Given the description of an element on the screen output the (x, y) to click on. 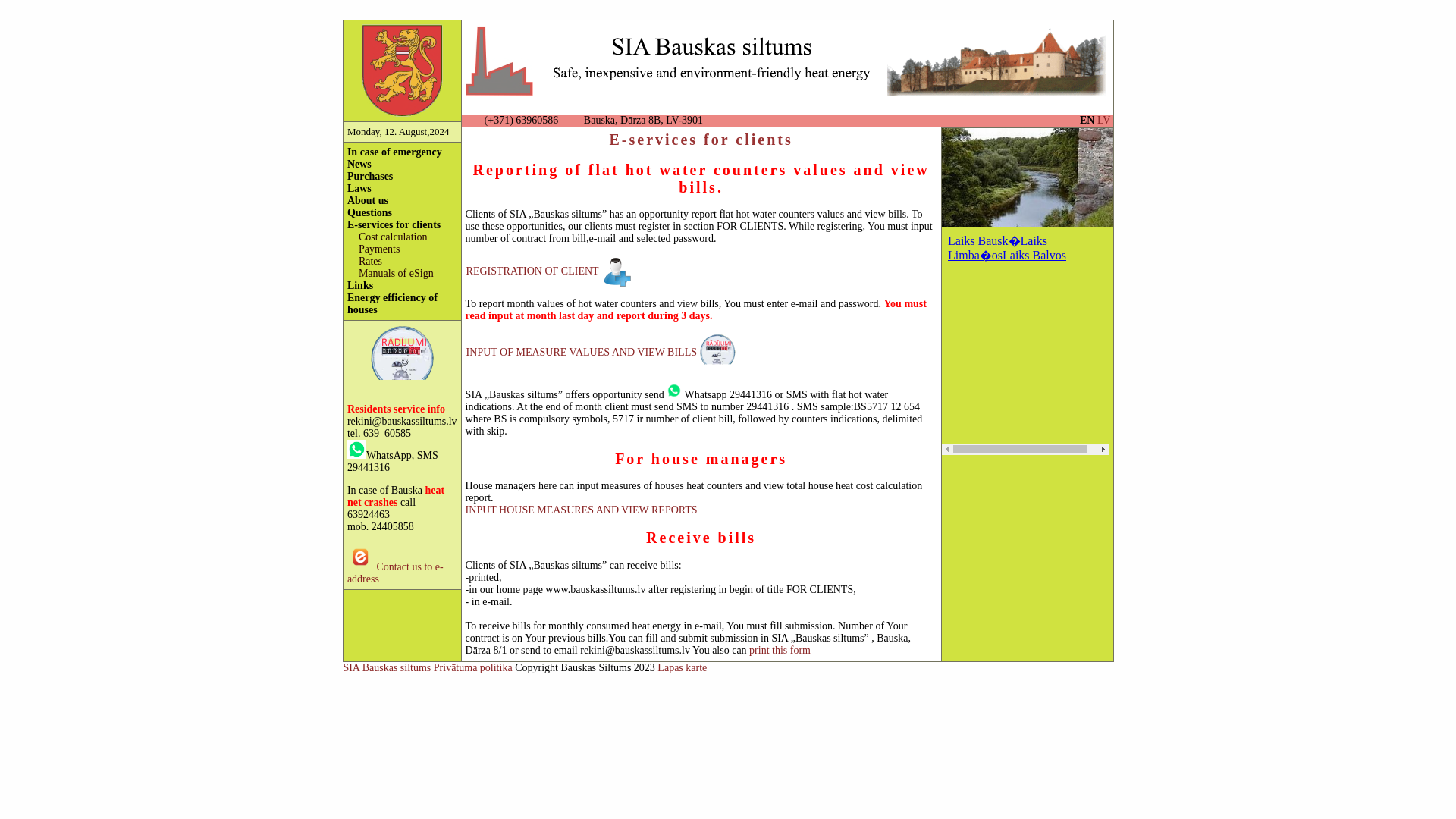
Rates (369, 260)
print this form (779, 650)
About us (367, 200)
Purchases (370, 175)
Questions (369, 212)
Payments (378, 248)
LV (1103, 120)
INPUT OF MEASURE VALUES AND VIEW BILLS (581, 351)
Contact us to e-address (395, 572)
In case of emergency (394, 152)
